Given the description of an element on the screen output the (x, y) to click on. 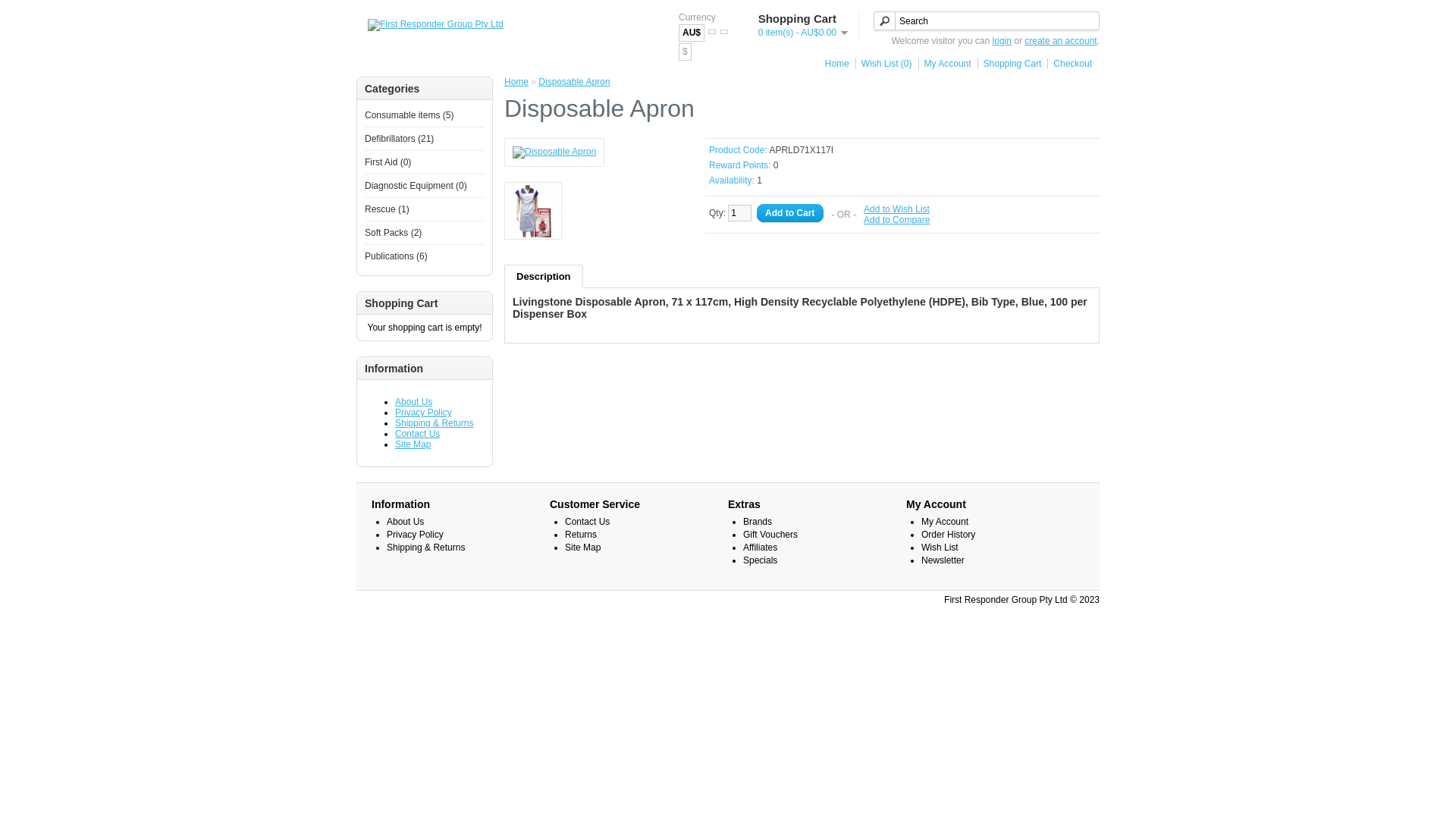
Checkout Element type: text (1069, 63)
AU$ Element type: text (691, 32)
Home Element type: text (516, 81)
Rescue (1) Element type: text (386, 208)
Privacy Policy Element type: text (414, 534)
Disposable Apron Element type: hover (532, 210)
My Account Element type: text (944, 63)
Shipping & Returns Element type: text (434, 422)
About Us Element type: text (404, 521)
Newsletter Element type: text (942, 560)
Disposable Apron Element type: hover (532, 211)
Publications (6) Element type: text (395, 256)
First Aid (0) Element type: text (387, 161)
Wish List Element type: text (939, 547)
Brands Element type: text (757, 521)
Disposable Apron Element type: hover (554, 152)
Site Map Element type: text (412, 444)
First Responder Group Pty Ltd Element type: hover (435, 24)
create an account Element type: text (1060, 40)
Gift Vouchers Element type: text (770, 534)
My Account Element type: text (944, 521)
Returns Element type: text (580, 534)
Add to Compare Element type: text (896, 219)
Privacy Policy Element type: text (423, 412)
Diagnostic Equipment (0) Element type: text (415, 185)
Shipping & Returns Element type: text (425, 547)
Pound Sterling Element type: hover (724, 31)
Consumable items (5) Element type: text (408, 114)
Soft Packs (2) Element type: text (392, 232)
Shopping Cart Element type: text (1009, 63)
Description Element type: text (543, 276)
Affiliates Element type: text (760, 547)
Home Element type: text (834, 63)
Disposable Apron Element type: text (573, 81)
Add to Cart Element type: text (789, 213)
Search Element type: text (986, 20)
Disposable Apron Element type: hover (554, 151)
Wish List (0) Element type: text (883, 63)
Euro Element type: hover (711, 31)
Defibrillators (21) Element type: text (398, 138)
Contact Us Element type: text (586, 521)
About Us Element type: text (413, 401)
Contact Us Element type: text (417, 433)
login Element type: text (1001, 40)
Order History Element type: text (948, 534)
$ Element type: text (684, 51)
Site Map Element type: text (582, 547)
0 item(s) - AU$0.00 Element type: text (802, 32)
Add to Wish List Element type: text (896, 208)
Specials Element type: text (760, 560)
